Given the description of an element on the screen output the (x, y) to click on. 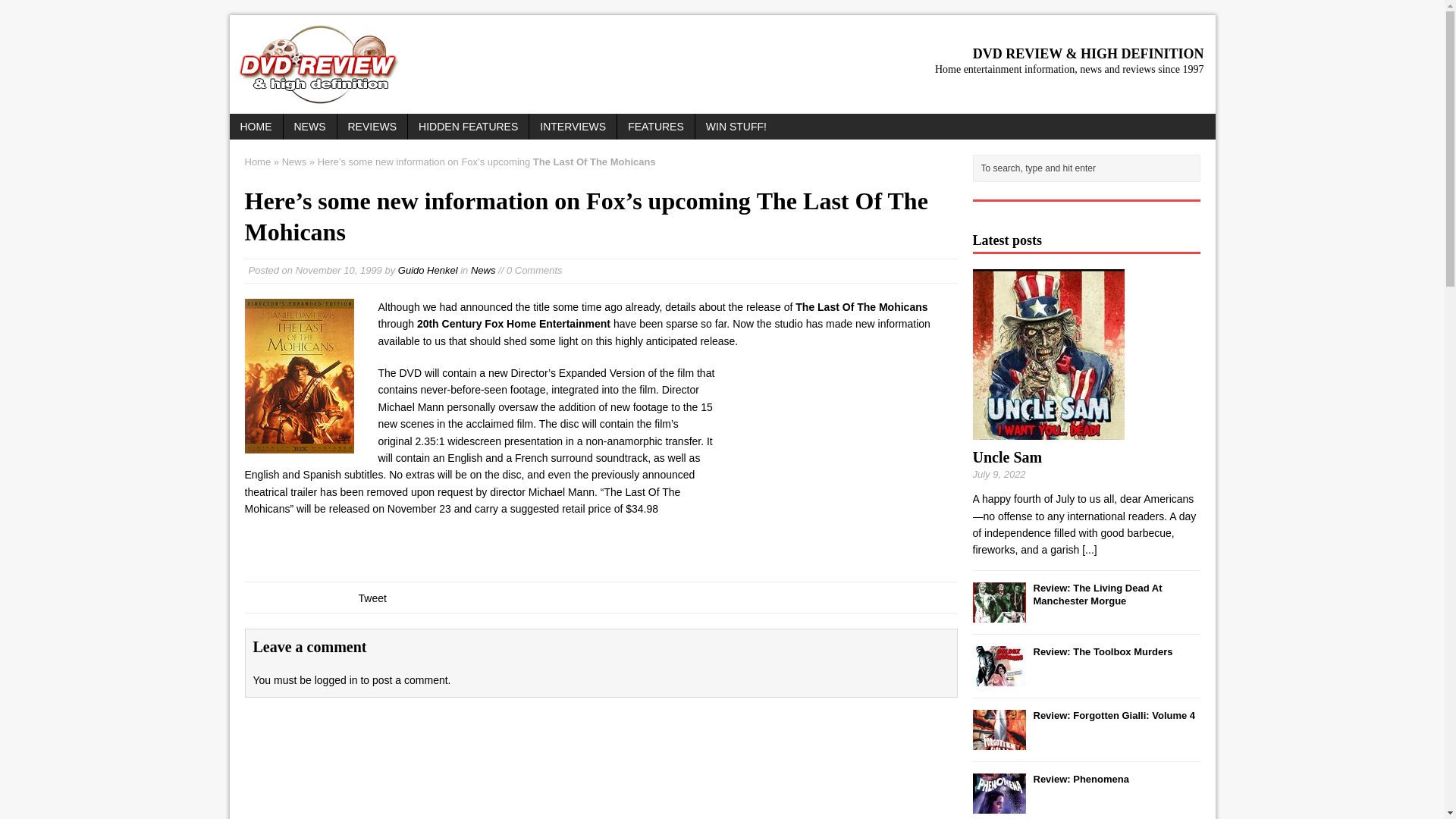
Review: Forgotten Gialli: Volume 4 (1113, 715)
Review: Phenomena (1080, 778)
HOME (255, 126)
Phenomena (998, 804)
To search, type and hit enter (1089, 167)
Review: The Living Dead At Manchester Morgue (1096, 594)
News (483, 270)
Uncle Sam (1088, 549)
Home (257, 161)
The Living Dead At Manchester Morgue (1096, 594)
